Given the description of an element on the screen output the (x, y) to click on. 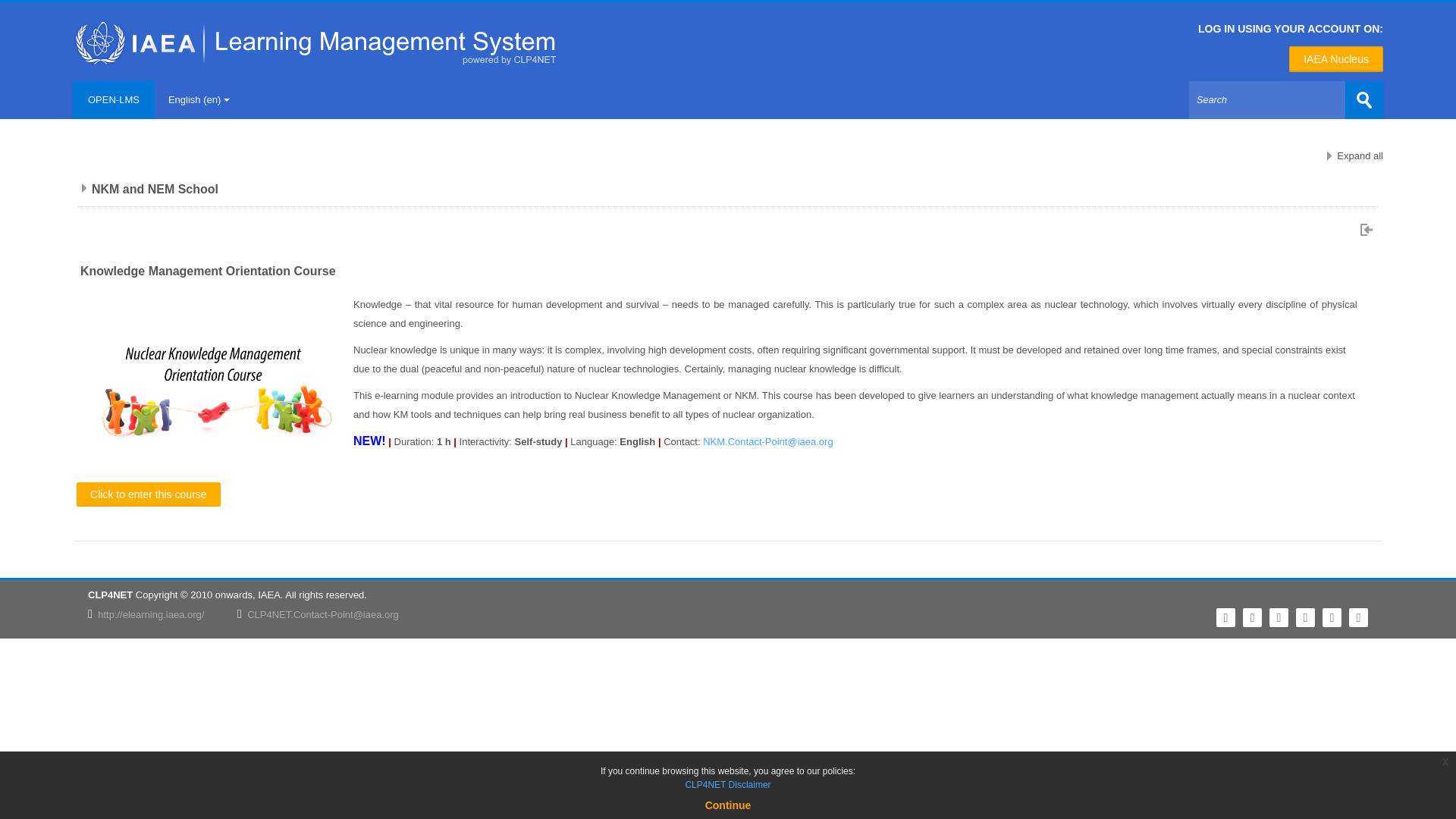
OPEN-LMS (113, 99)
Self enrolment (1368, 229)
IAEA Nucleus (1335, 58)
Search (1286, 99)
IAEA Nucleus (1335, 58)
Knowledge Management Orientation Course (208, 270)
NKM and NEM School (154, 188)
Expand all (1352, 155)
Language (198, 99)
Click to enter this course (149, 494)
